Given the description of an element on the screen output the (x, y) to click on. 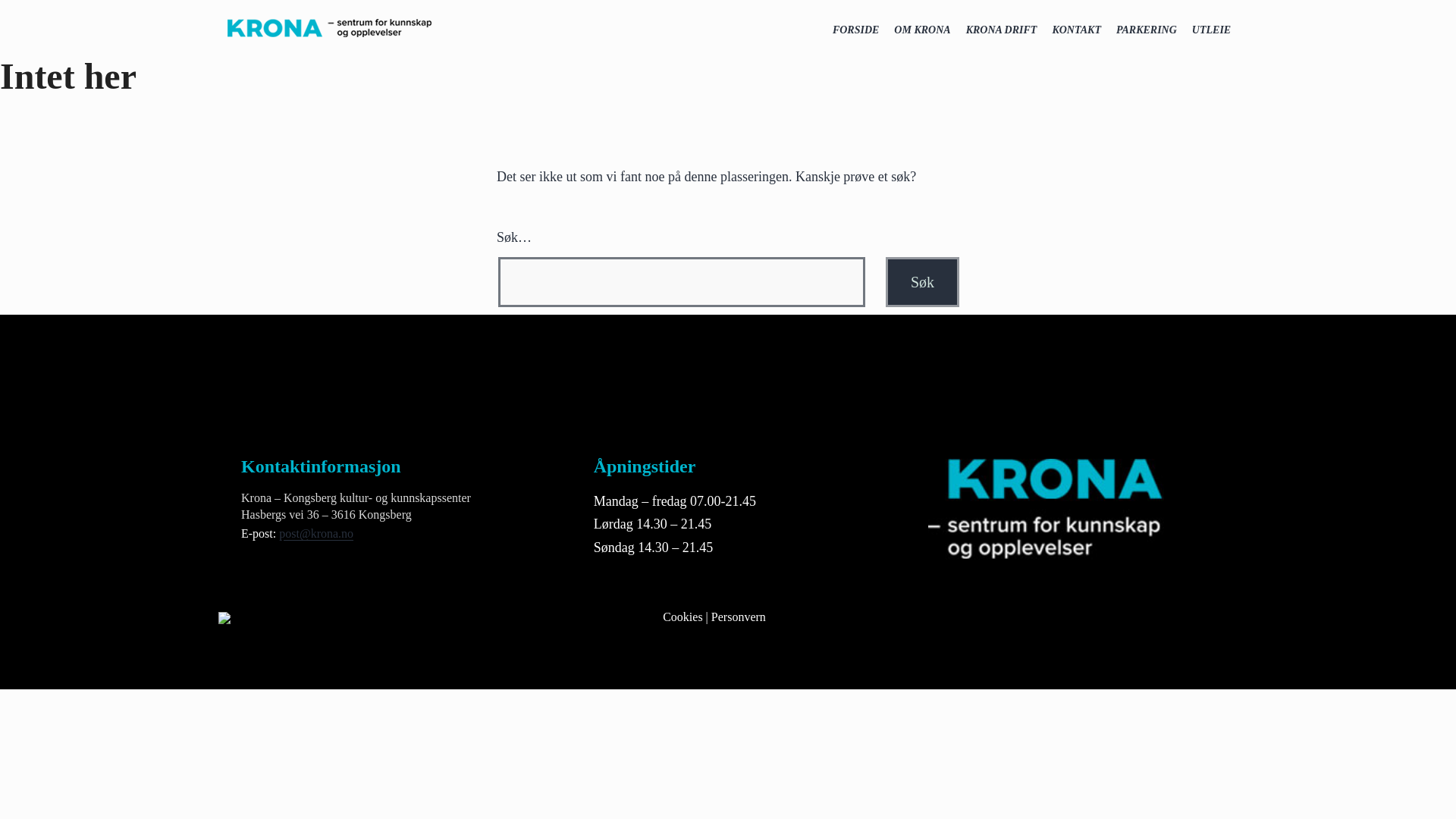
OM KRONA (922, 29)
PARKERING (1146, 29)
FORSIDE (855, 29)
KONTAKT (1075, 29)
KRONA DRIFT (1001, 29)
Personvern (738, 616)
UTLEIE (1212, 29)
